Given the description of an element on the screen output the (x, y) to click on. 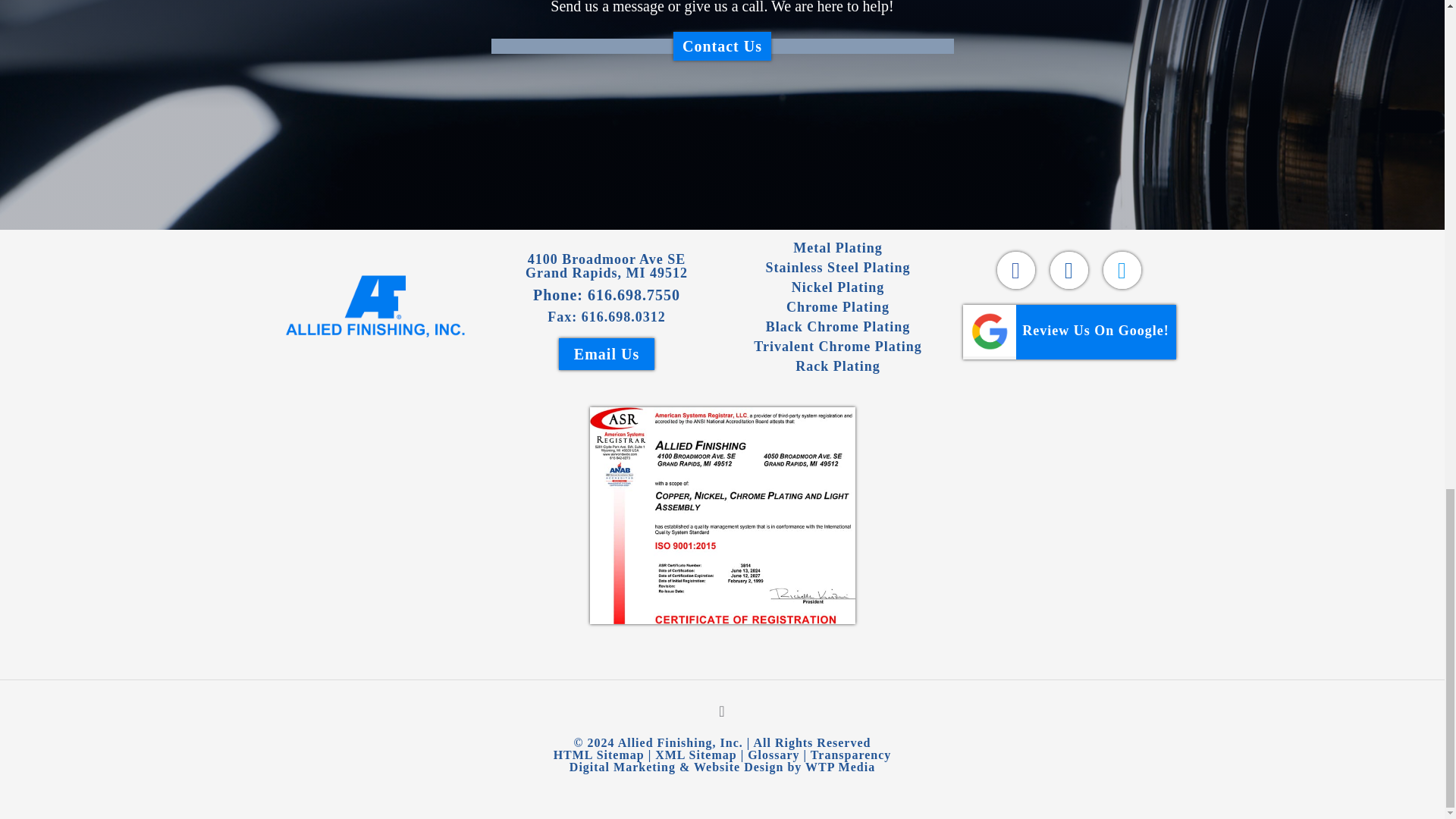
WTP Media (840, 766)
Review Us On Google! (1069, 331)
Transparency (850, 754)
Rack Plating (837, 365)
Email Us (606, 354)
616.698.7550 (633, 294)
Nickel Plating (838, 287)
Glossary (773, 754)
Stainless Steel Plating (837, 267)
HTML Sitemap (599, 754)
Black Chrome Plating (838, 326)
Metal Plating Company (375, 306)
Contact Us (721, 45)
Chrome Plating (837, 306)
Trivalent Chrome Plating (837, 346)
